Given the description of an element on the screen output the (x, y) to click on. 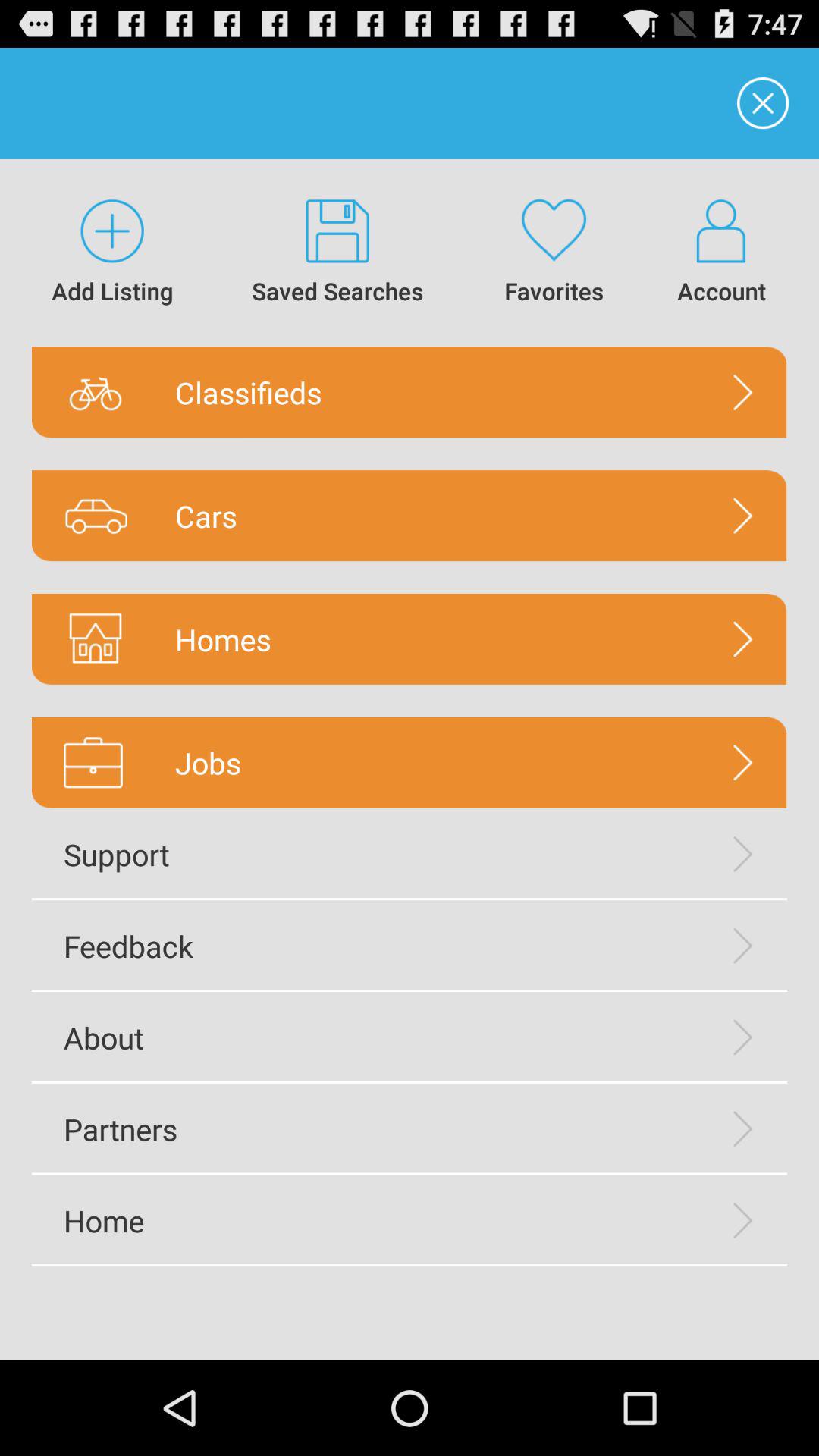
press the item to the left of the account item (553, 253)
